Given the description of an element on the screen output the (x, y) to click on. 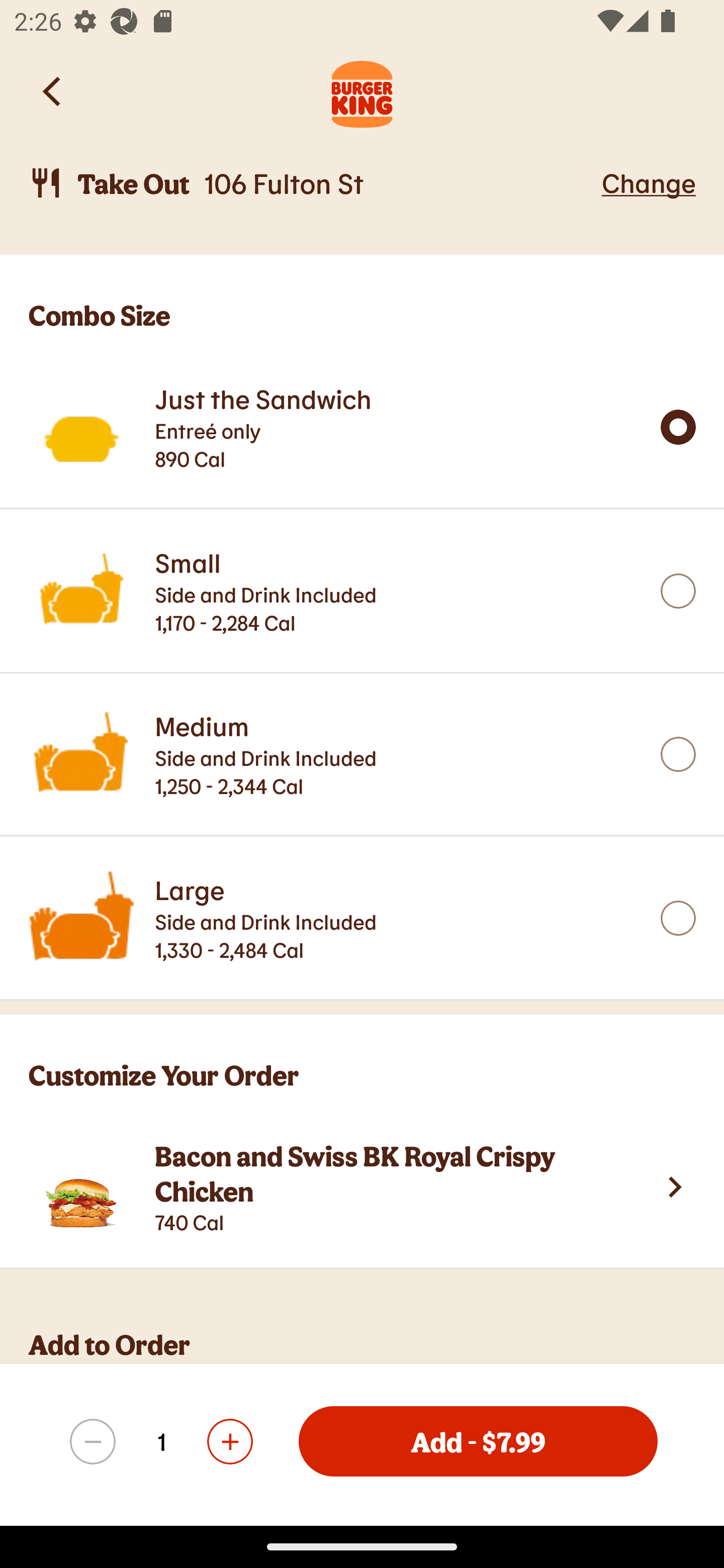
Burger King Logo. Navigate to Home (362, 91)
Back (52, 91)
Take Out, 106 Fulton St  Take Out 106 Fulton St (311, 183)
Change (648, 182)
Combo Size (362, 300)
Customize Your Order (362, 1059)
Add to Order (376, 1345)
